Given the description of an element on the screen output the (x, y) to click on. 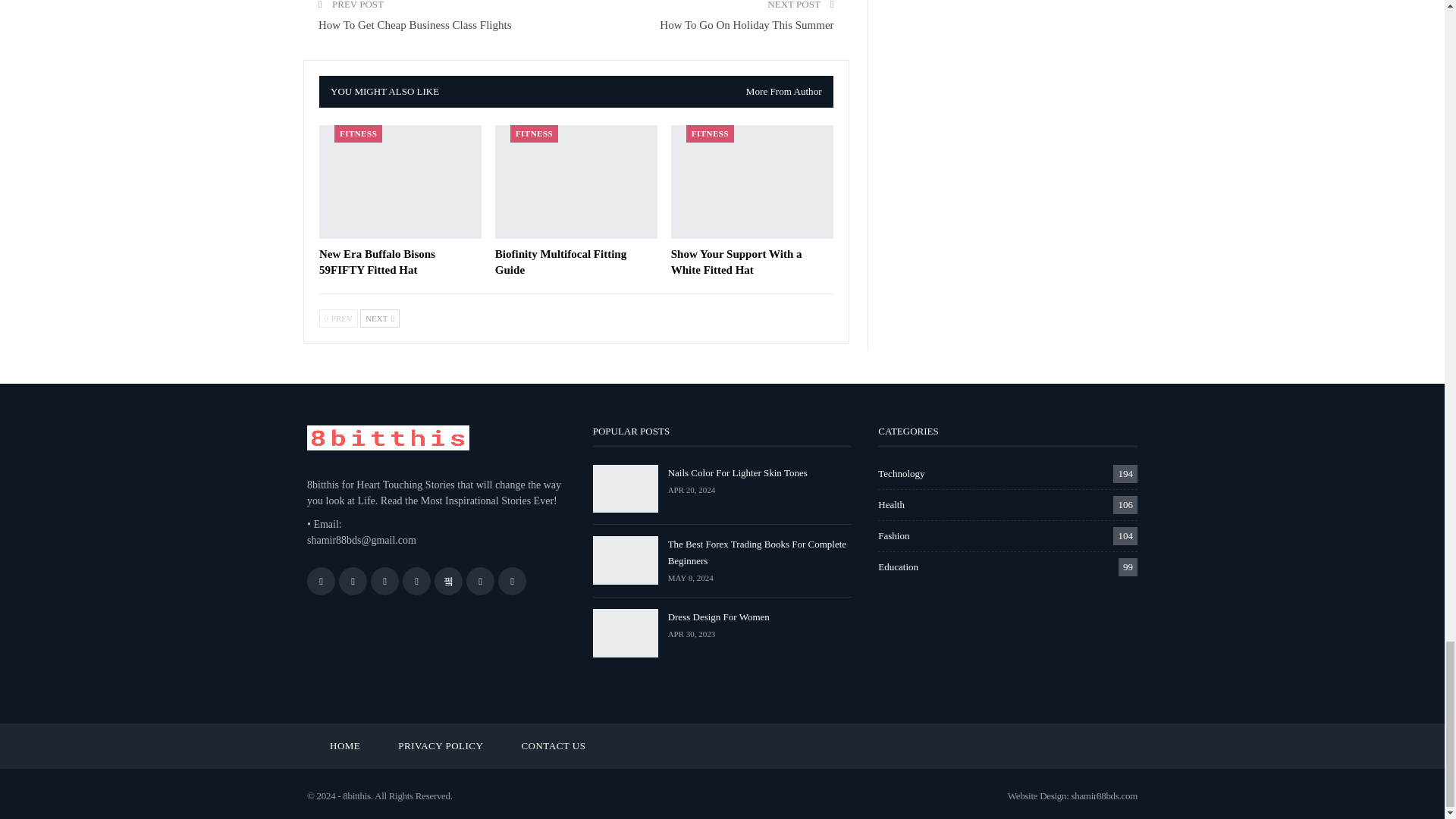
Show Your Support With a White Fitted Hat (736, 262)
New Era Buffalo Bisons 59FIFTY Fitted Hat (399, 182)
Next (378, 318)
Biofinity Multifocal Fitting Guide (576, 182)
Previous (338, 318)
New Era Buffalo Bisons 59FIFTY Fitted Hat (376, 262)
Show Your Support With a White Fitted Hat (751, 182)
Biofinity Multifocal Fitting Guide (560, 262)
